Given the description of an element on the screen output the (x, y) to click on. 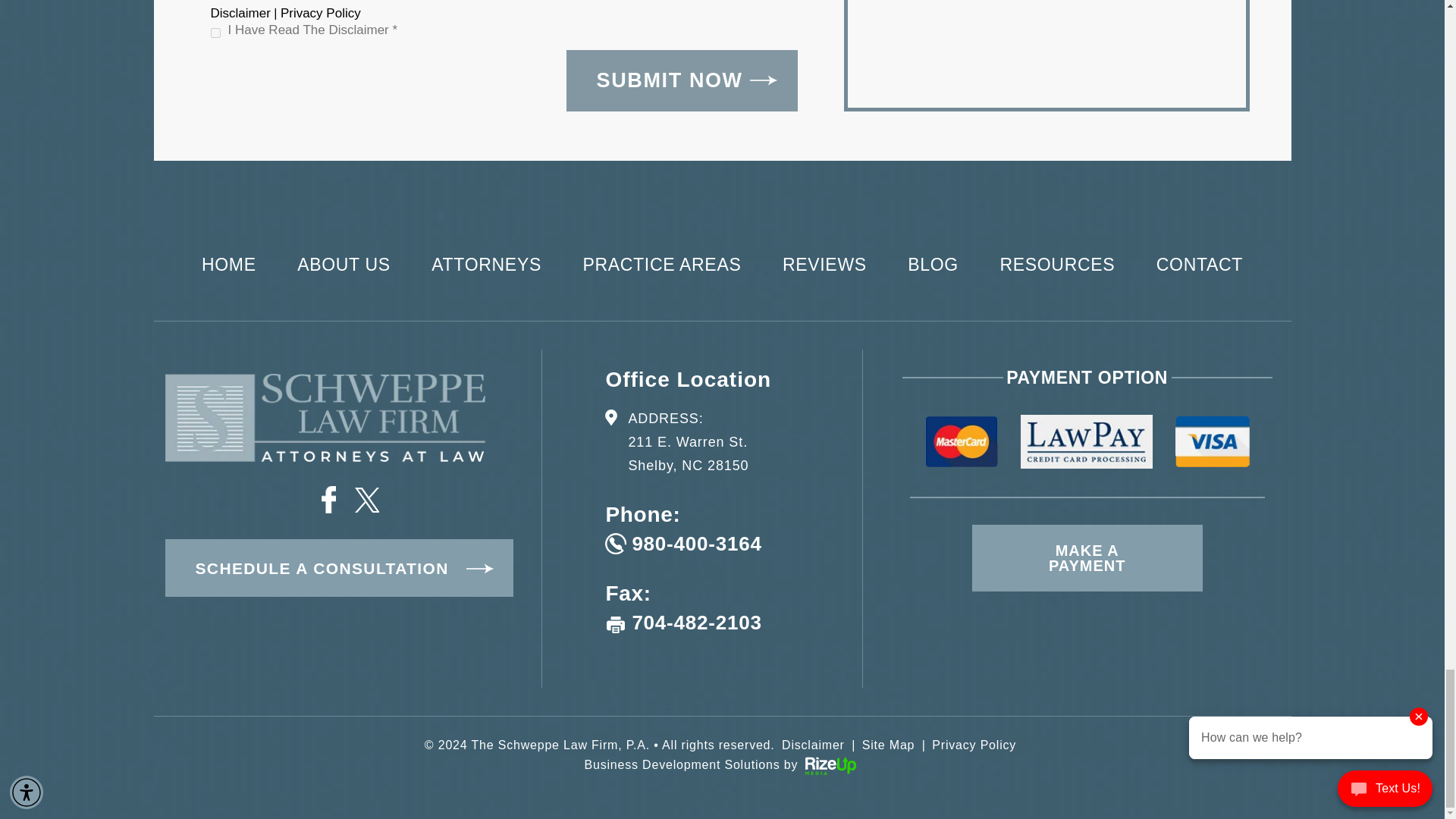
Submit Now (681, 80)
